Given the description of an element on the screen output the (x, y) to click on. 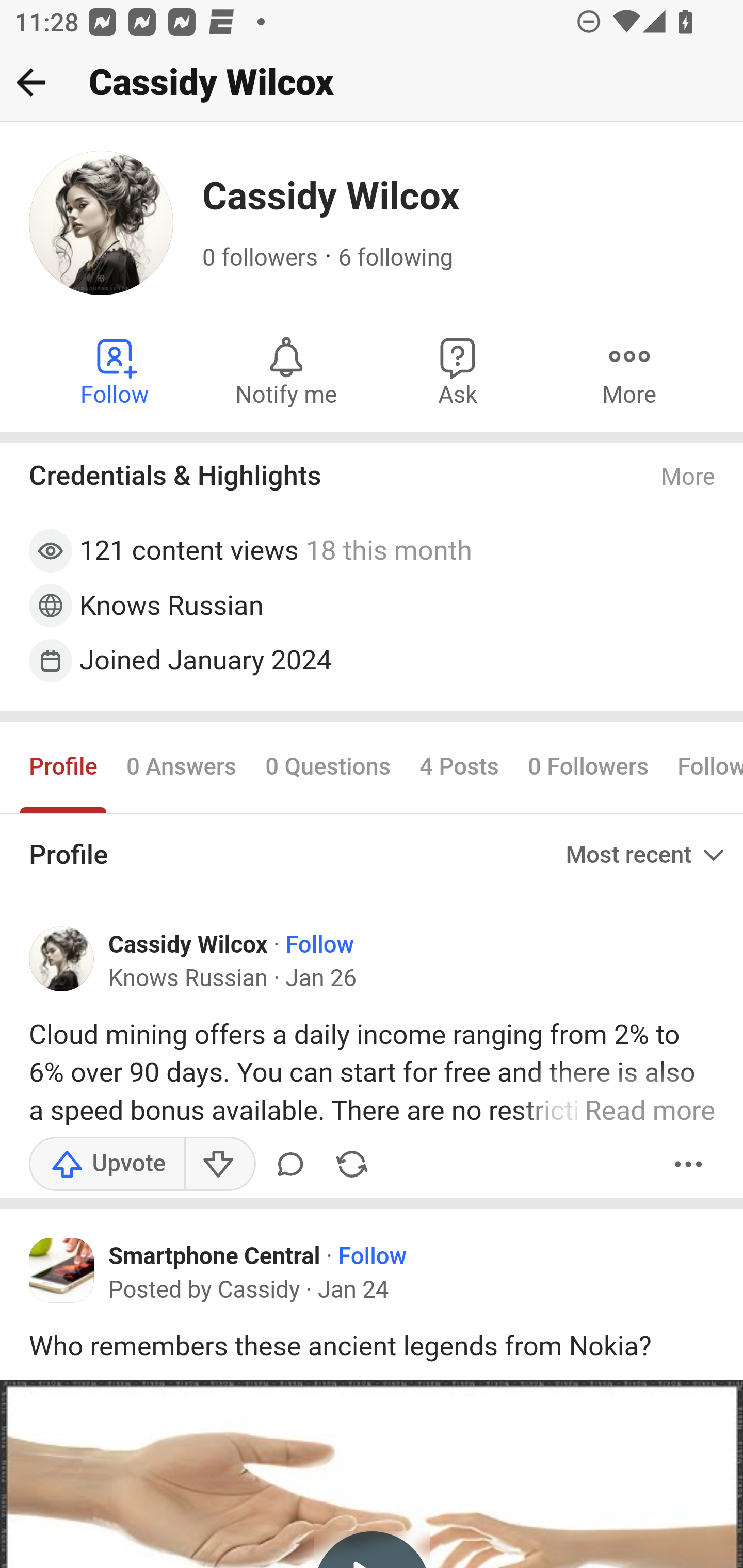
Back (30, 82)
0 followers (260, 257)
6 following (395, 257)
Follow Cassidy Wilcox Follow (115, 370)
Notify me (285, 370)
Ask (458, 370)
More (628, 370)
More (688, 477)
Profile (63, 766)
0 Answers (180, 766)
0 Questions (327, 766)
4 Posts (459, 766)
0 Followers (588, 766)
Most recent (647, 854)
Profile photo for Cassidy Wilcox (61, 959)
Cassidy Wilcox (188, 944)
Follow (320, 944)
Upvote (106, 1163)
Downvote (219, 1163)
Comment (293, 1163)
Share (351, 1163)
More (688, 1163)
Icon for Smartphone Central (61, 1270)
Smartphone Central (214, 1255)
Follow (372, 1255)
